Given the description of an element on the screen output the (x, y) to click on. 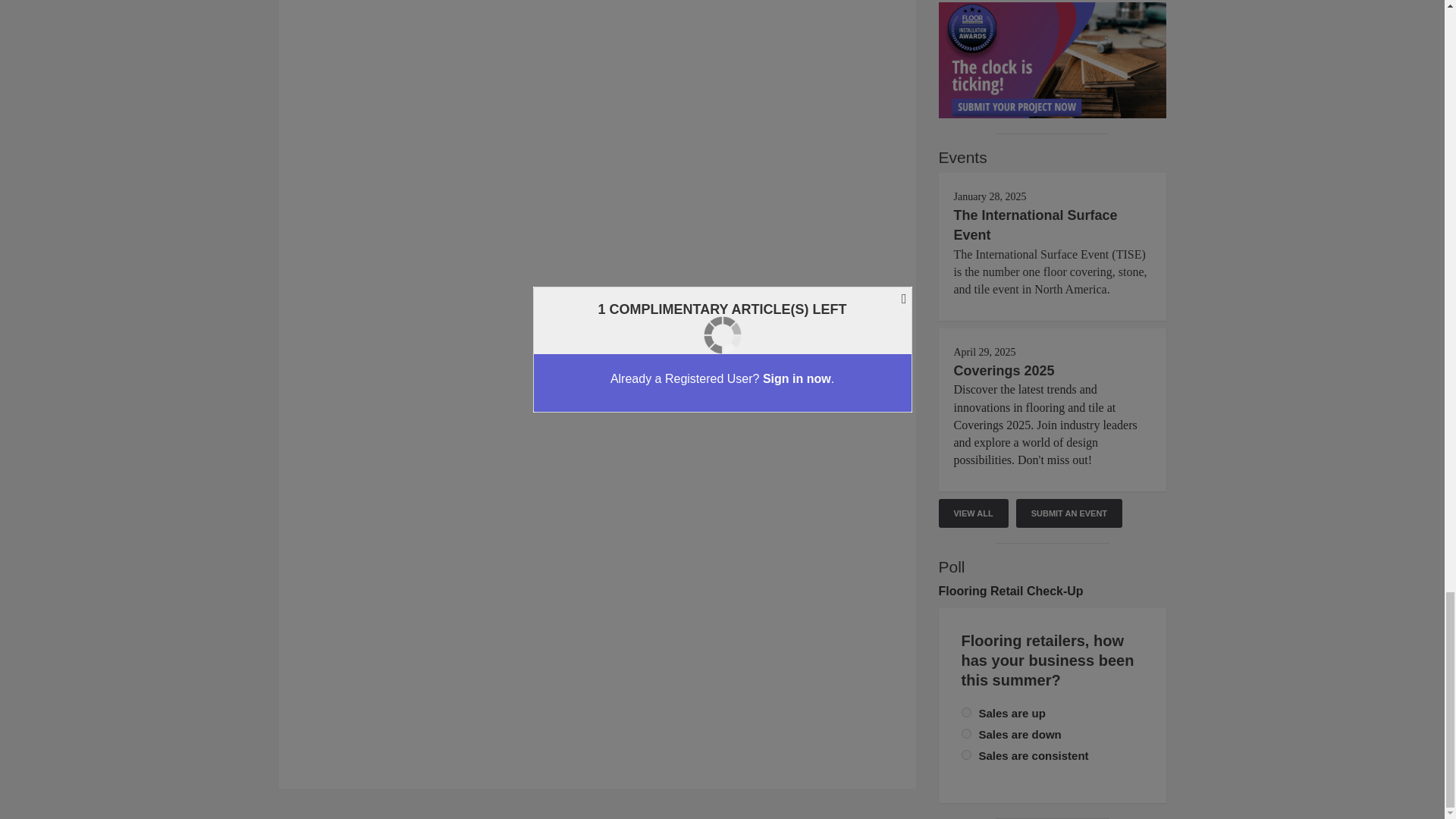
The International Surface Event (1035, 225)
Coverings 2025 (1003, 370)
343 (965, 755)
342 (965, 733)
344 (965, 712)
